Given the description of an element on the screen output the (x, y) to click on. 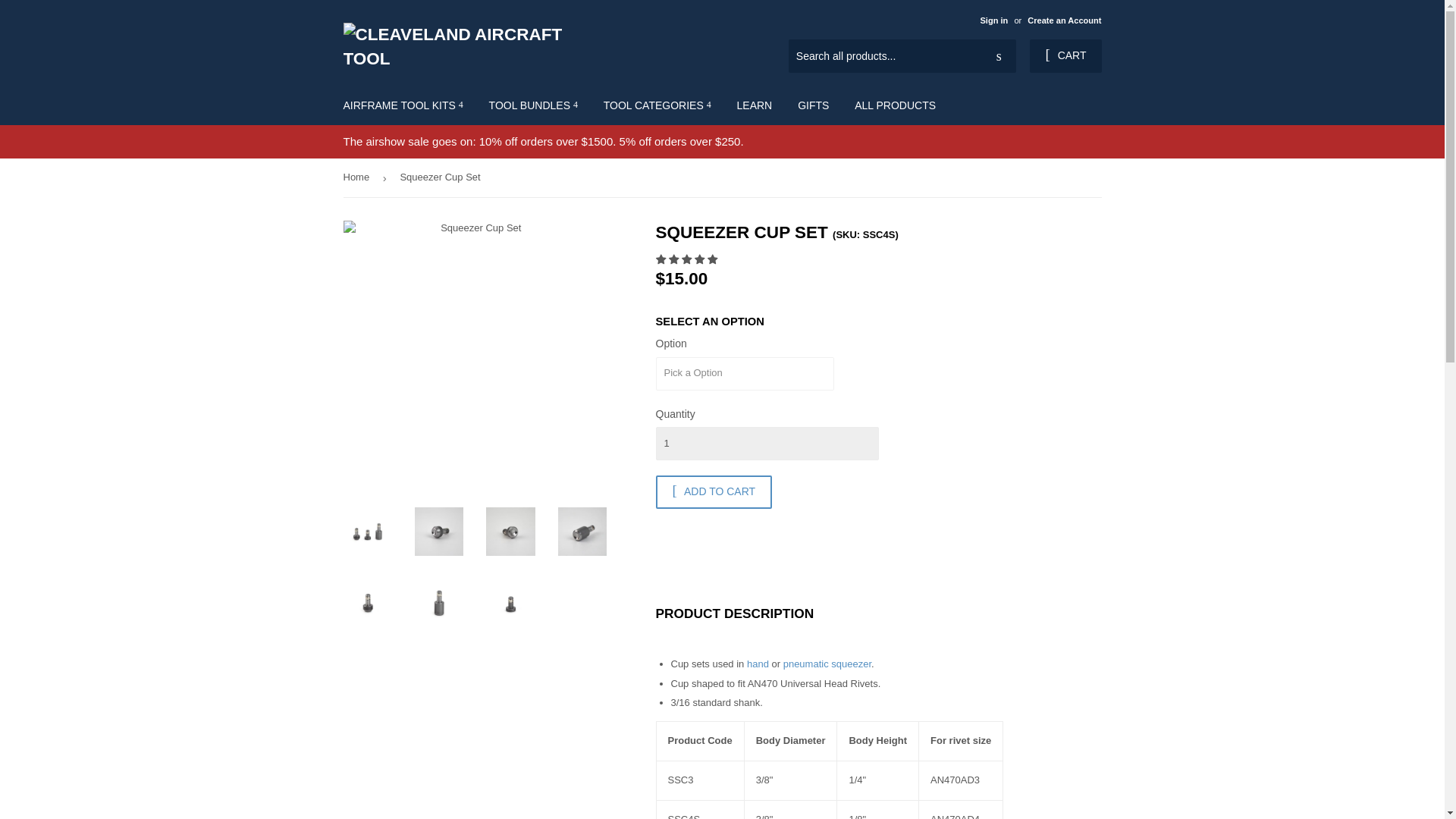
Create an Account (1063, 20)
CART (1064, 55)
Search (998, 56)
Sign in (993, 20)
1 (766, 443)
